Given the description of an element on the screen output the (x, y) to click on. 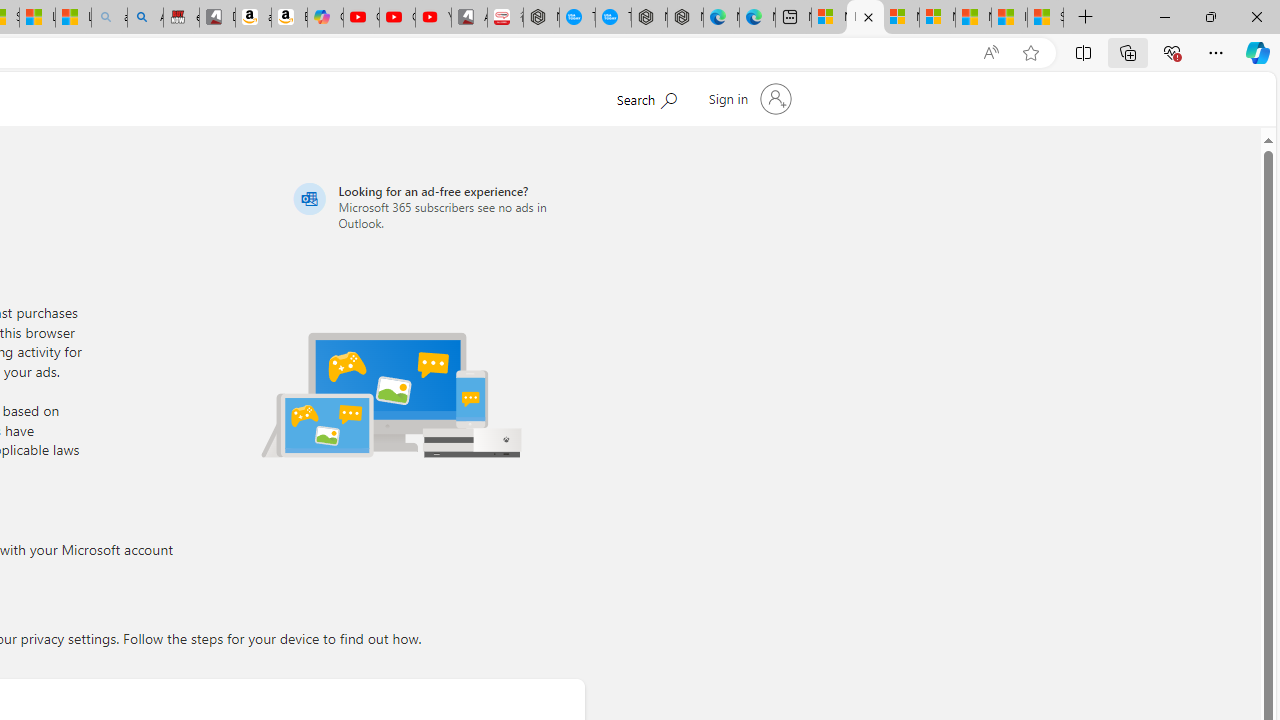
Amazon Echo Dot PNG - Search Images (145, 17)
Search Microsoft.com (646, 97)
I Gained 20 Pounds of Muscle in 30 Days! | Watch (1009, 17)
amazon.in/dp/B0CX59H5W7/?tag=gsmcom05-21 (253, 17)
Looking for an ad-free experience? (436, 206)
amazon - Search - Sleeping (109, 17)
Gloom - YouTube (397, 17)
